Given the description of an element on the screen output the (x, y) to click on. 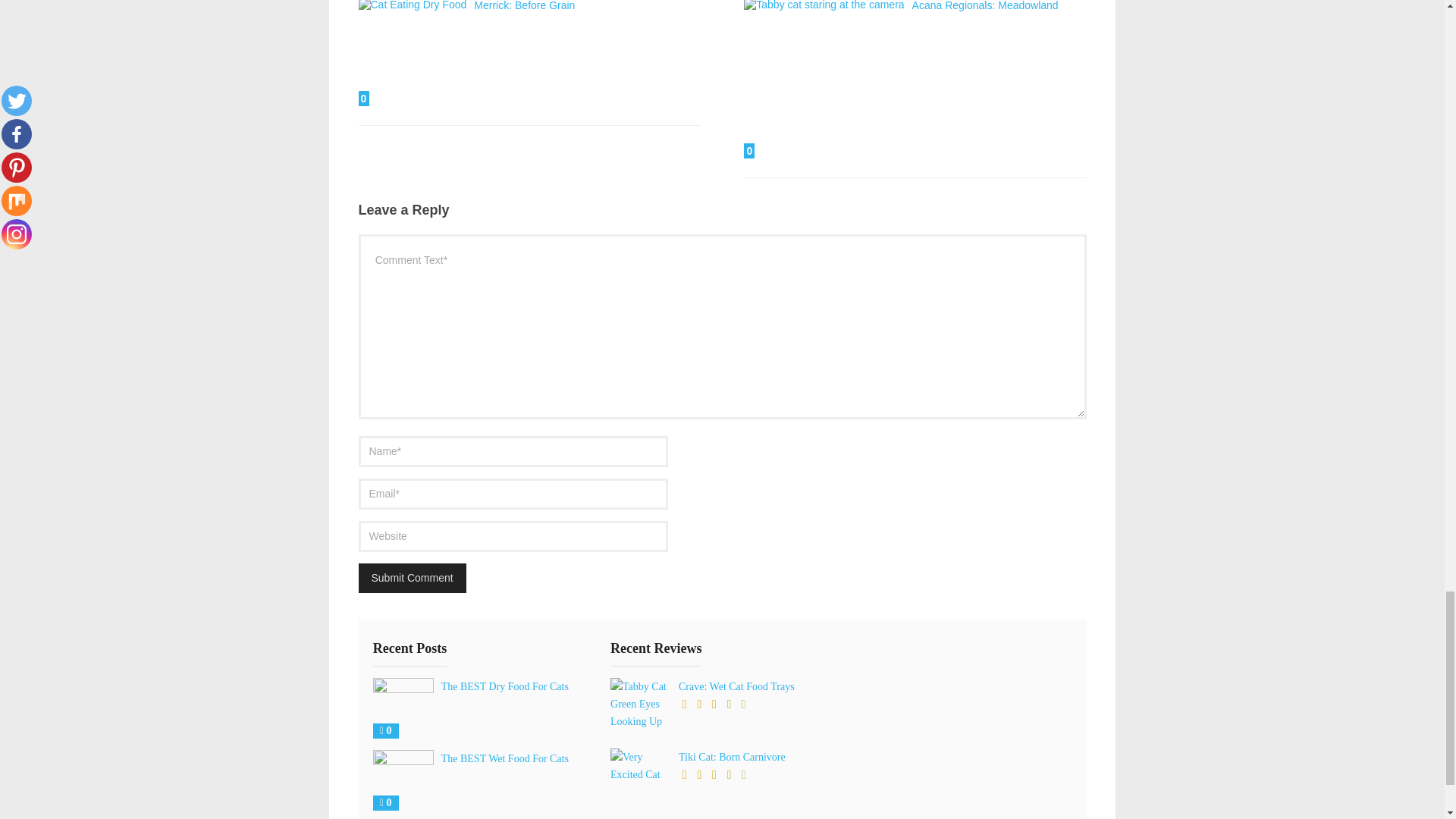
Merrick: Before Grain (411, 53)
Submit Comment (411, 577)
0 (411, 53)
Merrick: Before Grain (524, 5)
